Given the description of an element on the screen output the (x, y) to click on. 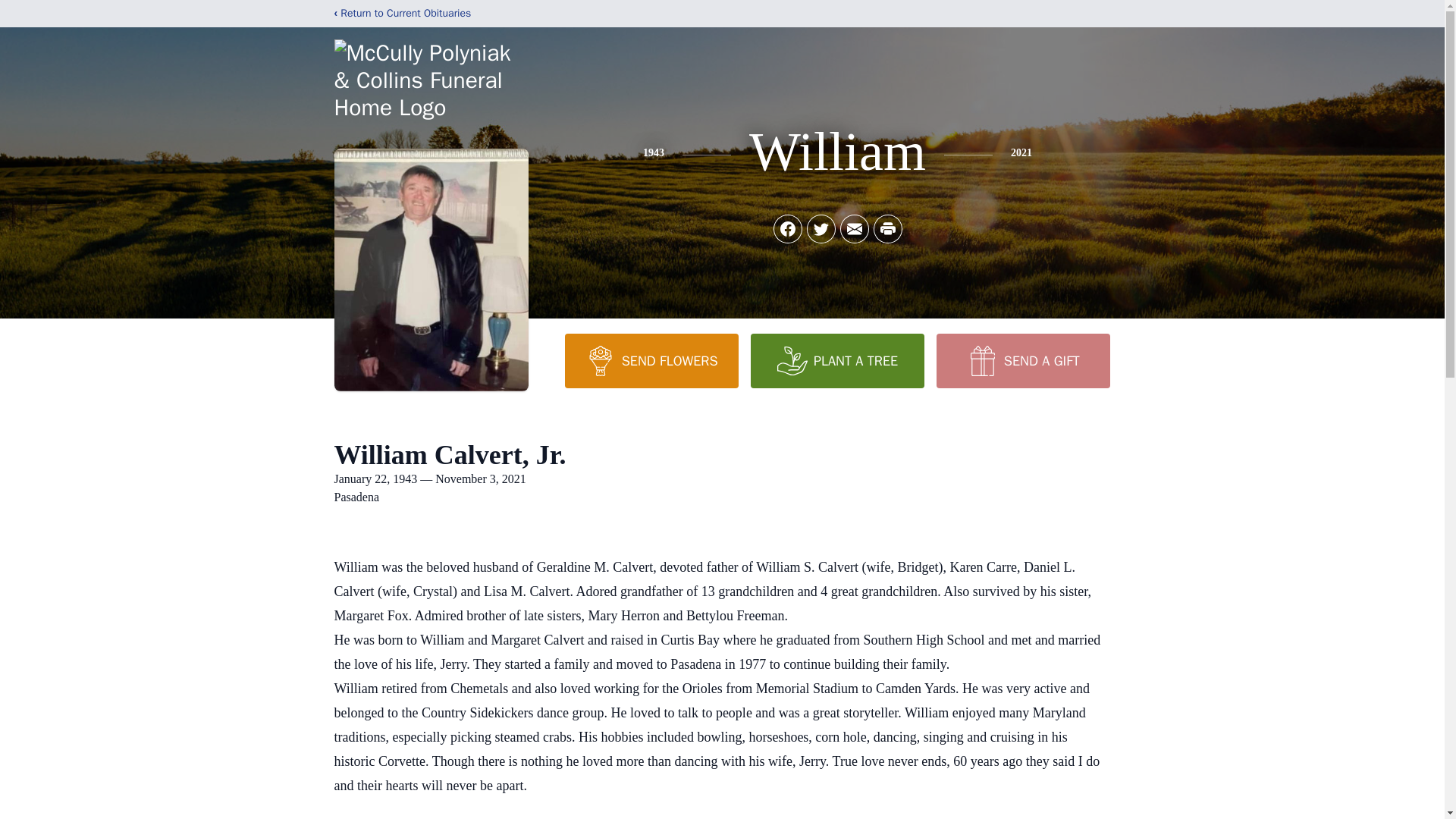
SEND FLOWERS (651, 360)
SEND A GIFT (1022, 360)
PLANT A TREE (837, 360)
